Given the description of an element on the screen output the (x, y) to click on. 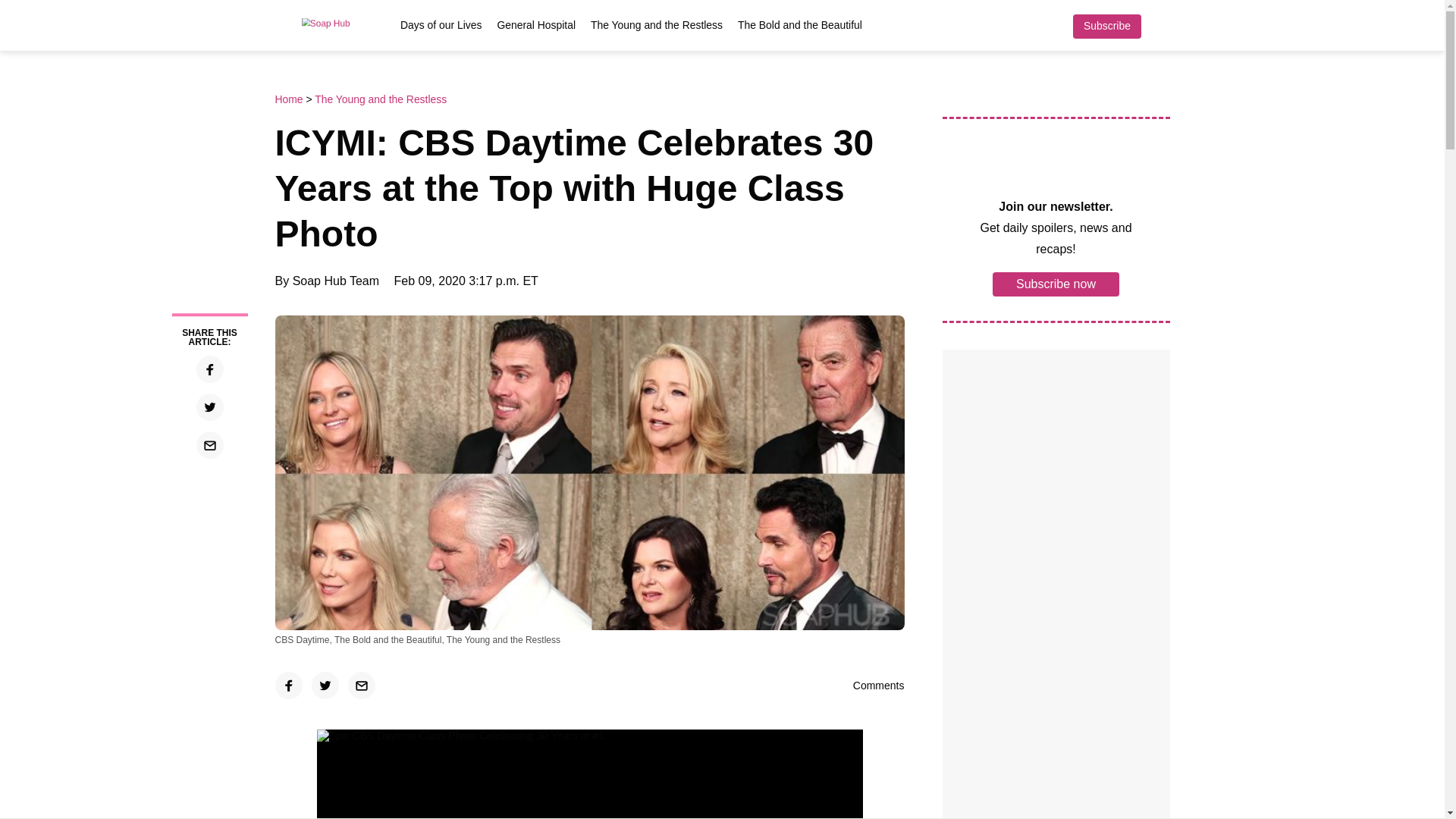
Days of our Lives (441, 24)
The Bold and the Beautiful (799, 24)
Home (290, 99)
Subscribe (1105, 26)
Click to email a link to a friend (208, 444)
Click to share on Twitter (324, 685)
Soap Hub Team (335, 280)
General Hospital (536, 24)
Click to share on Facebook (208, 369)
Click to email a link to a friend (360, 685)
